Given the description of an element on the screen output the (x, y) to click on. 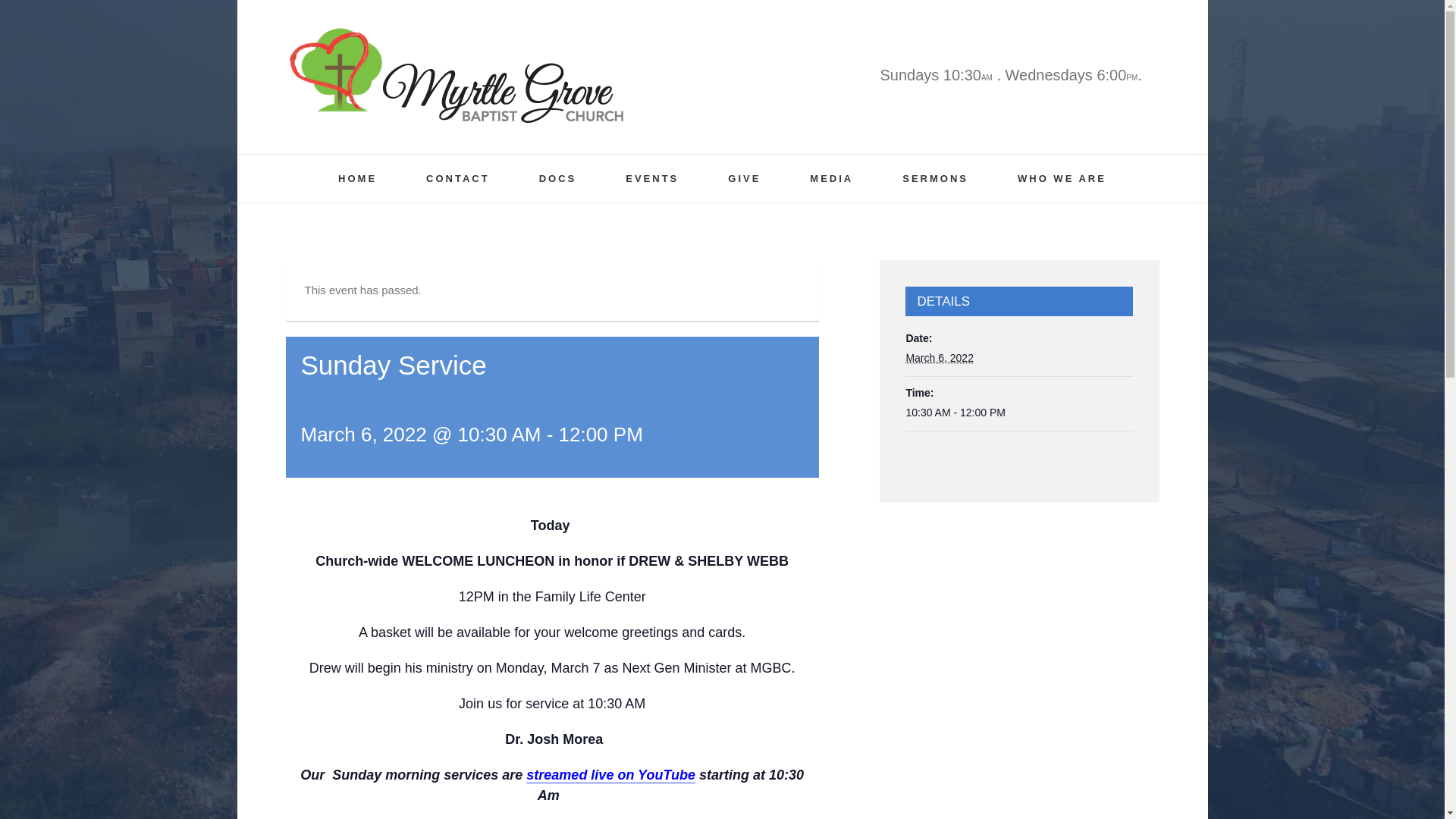
MEDIA (831, 178)
CONTACT (457, 178)
streamed live on YouTube (610, 774)
2022-03-06 (939, 357)
2022-03-06 (1018, 412)
WHO WE ARE (1061, 178)
EVENTS (652, 178)
SERMONS (935, 178)
